Given the description of an element on the screen output the (x, y) to click on. 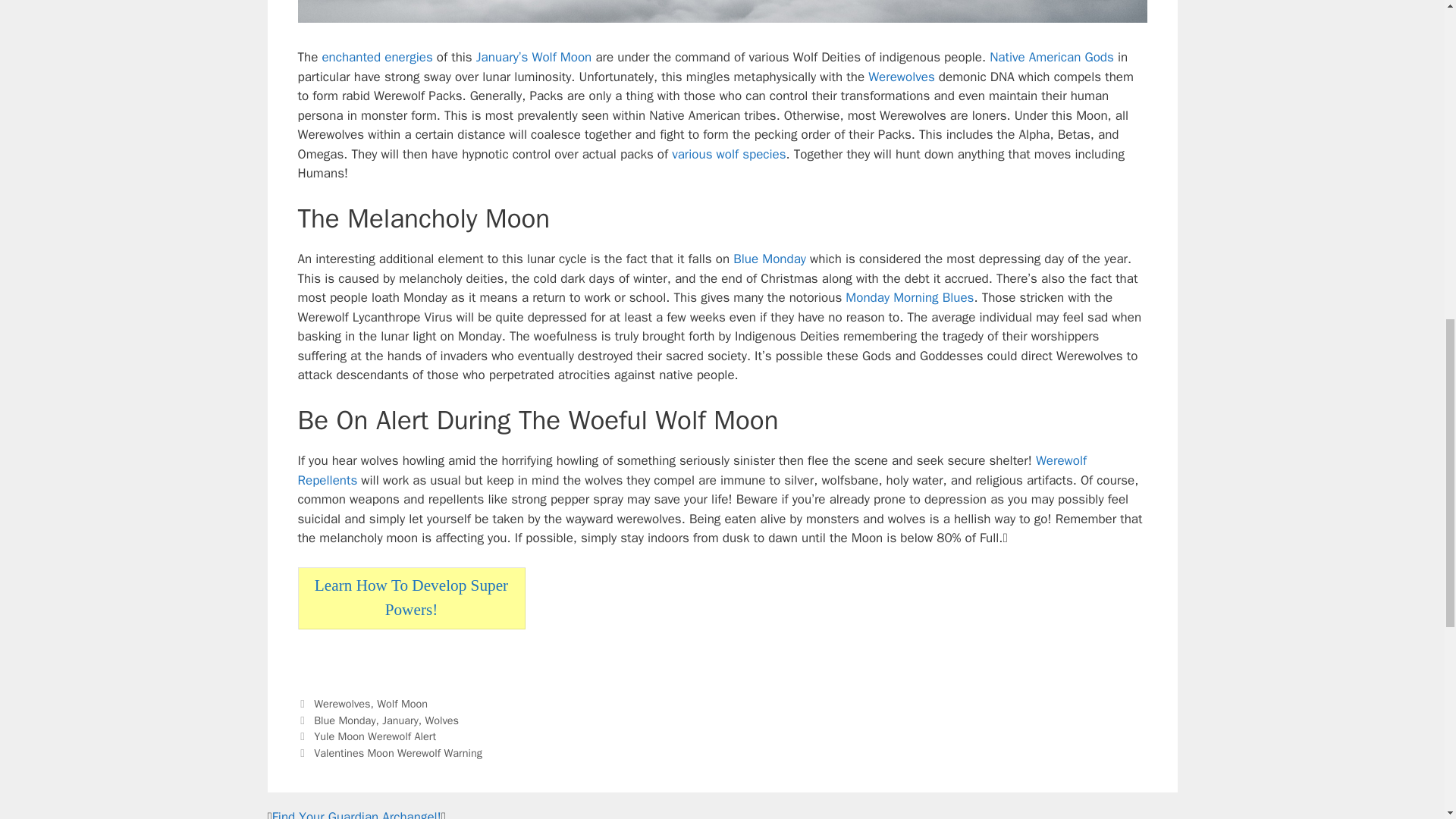
Werewolves (900, 76)
Scroll back to top (1406, 720)
various wolf species (728, 154)
enchanted energies (376, 57)
Monday Morning Blues (909, 297)
Blue Monday (769, 258)
Werewolf Repellents (691, 470)
Native American Gods (1051, 57)
